Given the description of an element on the screen output the (x, y) to click on. 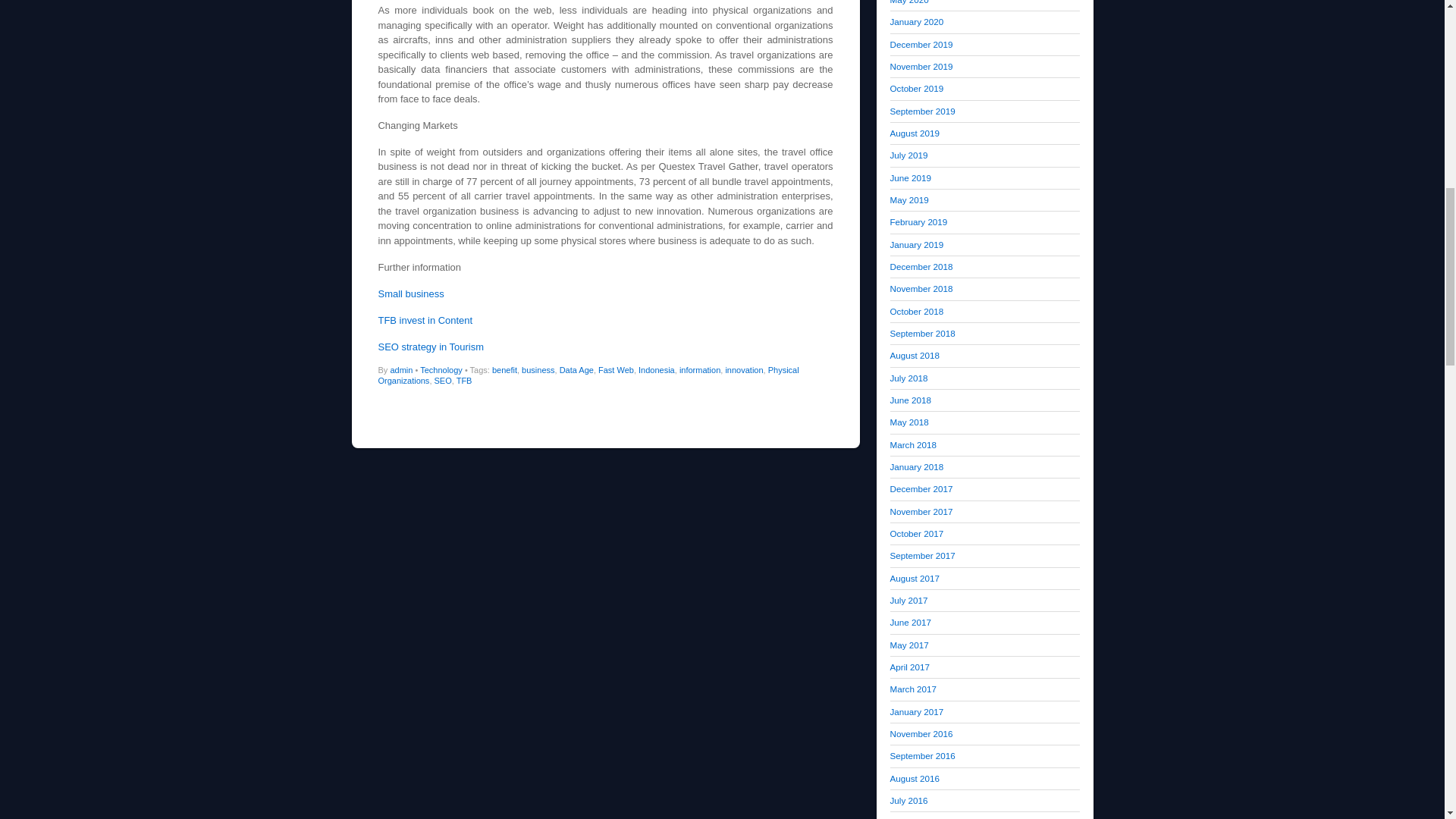
SEO strategy in Tourism (430, 346)
Fast Web (615, 369)
SEO (442, 379)
admin (401, 369)
May 2020 (908, 2)
Small business  (411, 293)
Technology (441, 369)
December 2019 (921, 44)
business (537, 369)
TFB (464, 379)
Physical Organizations (587, 374)
January 2020 (916, 21)
information (699, 369)
benefit (504, 369)
Indonesia (657, 369)
